Given the description of an element on the screen output the (x, y) to click on. 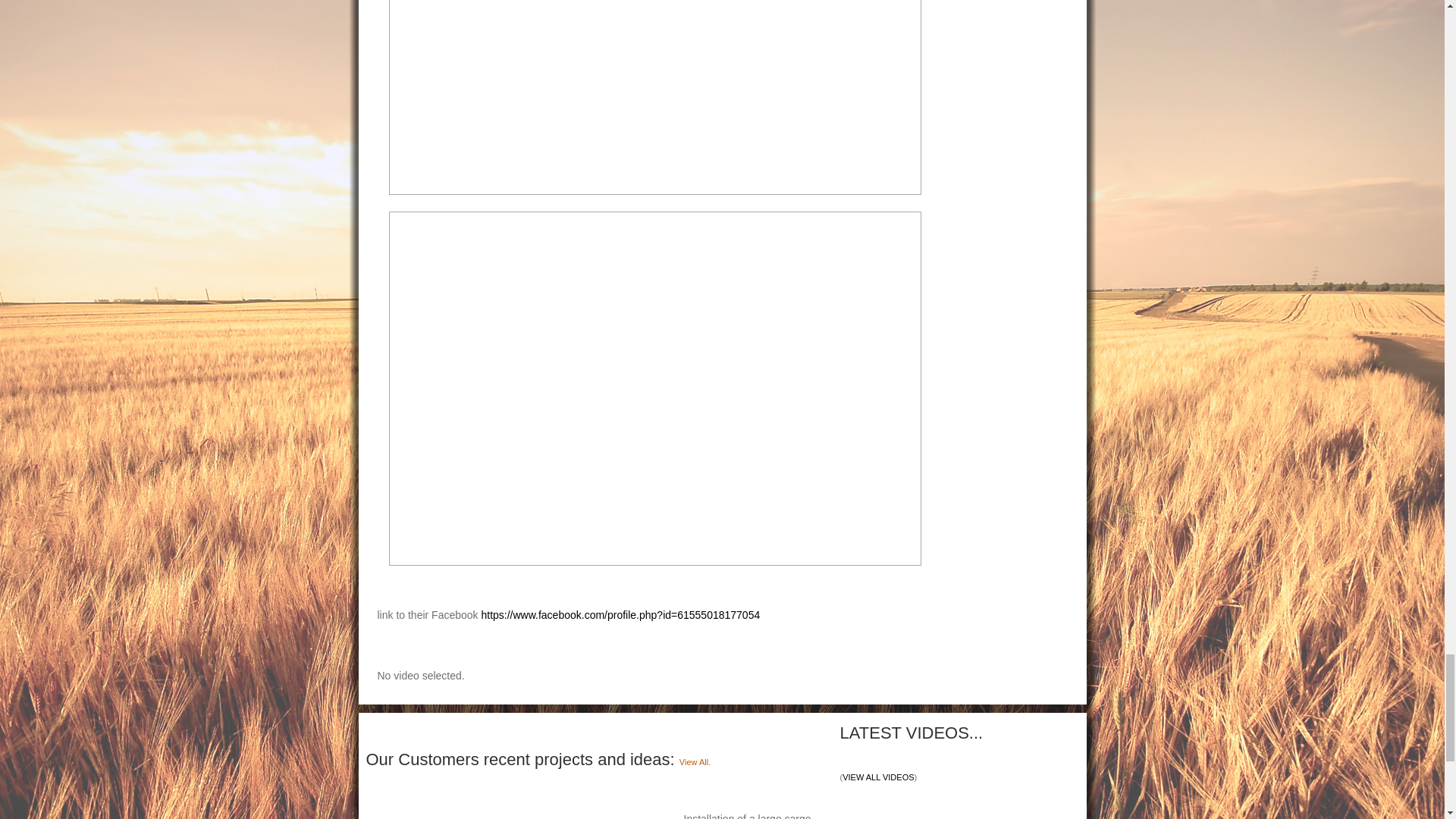
Jewellery centre cage (489, 800)
